Given the description of an element on the screen output the (x, y) to click on. 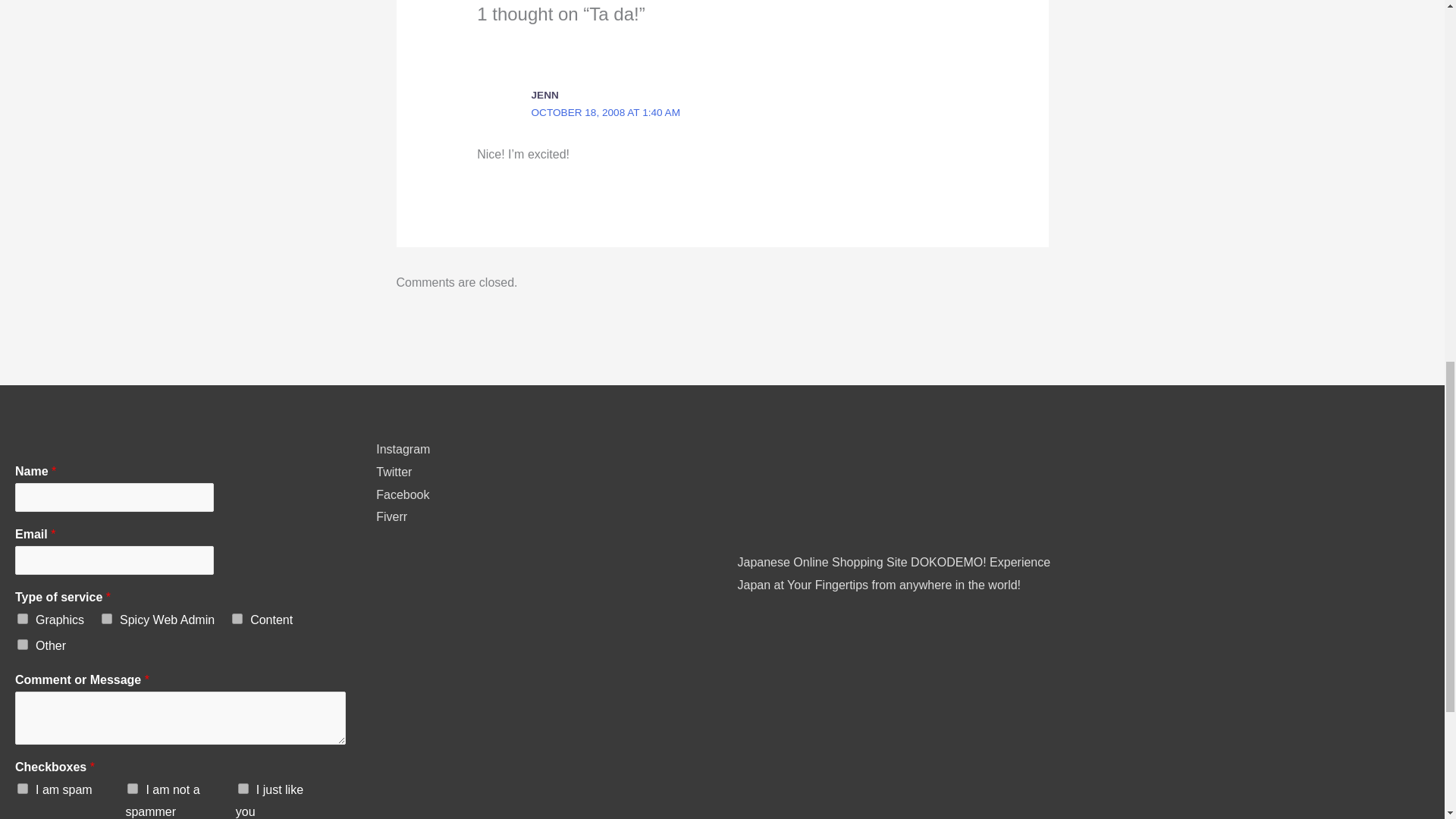
Other (22, 644)
Facebook (402, 494)
Fiverr (391, 516)
Instagram (402, 449)
OCTOBER 18, 2008 AT 1:40 AM (605, 112)
I just like you (243, 787)
Twitter (393, 472)
Graphics (22, 618)
I am spam (22, 787)
Content (237, 618)
